Given the description of an element on the screen output the (x, y) to click on. 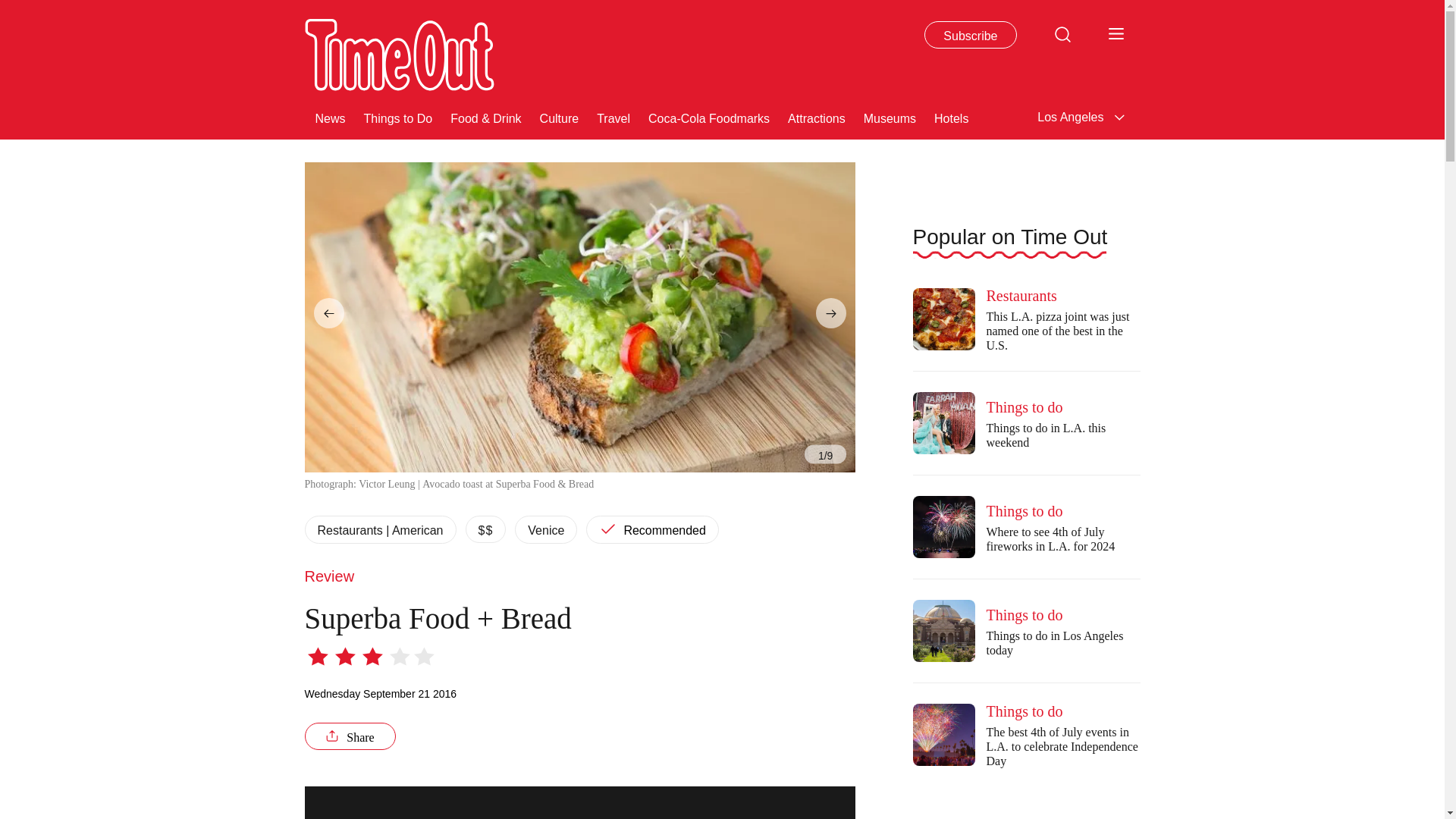
Coca-Cola Foodmarks (708, 116)
Hotels (951, 116)
Travel (613, 116)
Where to see 4th of July fireworks in L.A. for 2024 (943, 526)
Things to do in L.A. this weekend (943, 423)
Things to Do (397, 116)
Go to the content (10, 7)
Things to do in Los Angeles today (943, 630)
Attractions (816, 116)
Museums (889, 116)
Culture (559, 116)
Subscribe (970, 34)
